Given the description of an element on the screen output the (x, y) to click on. 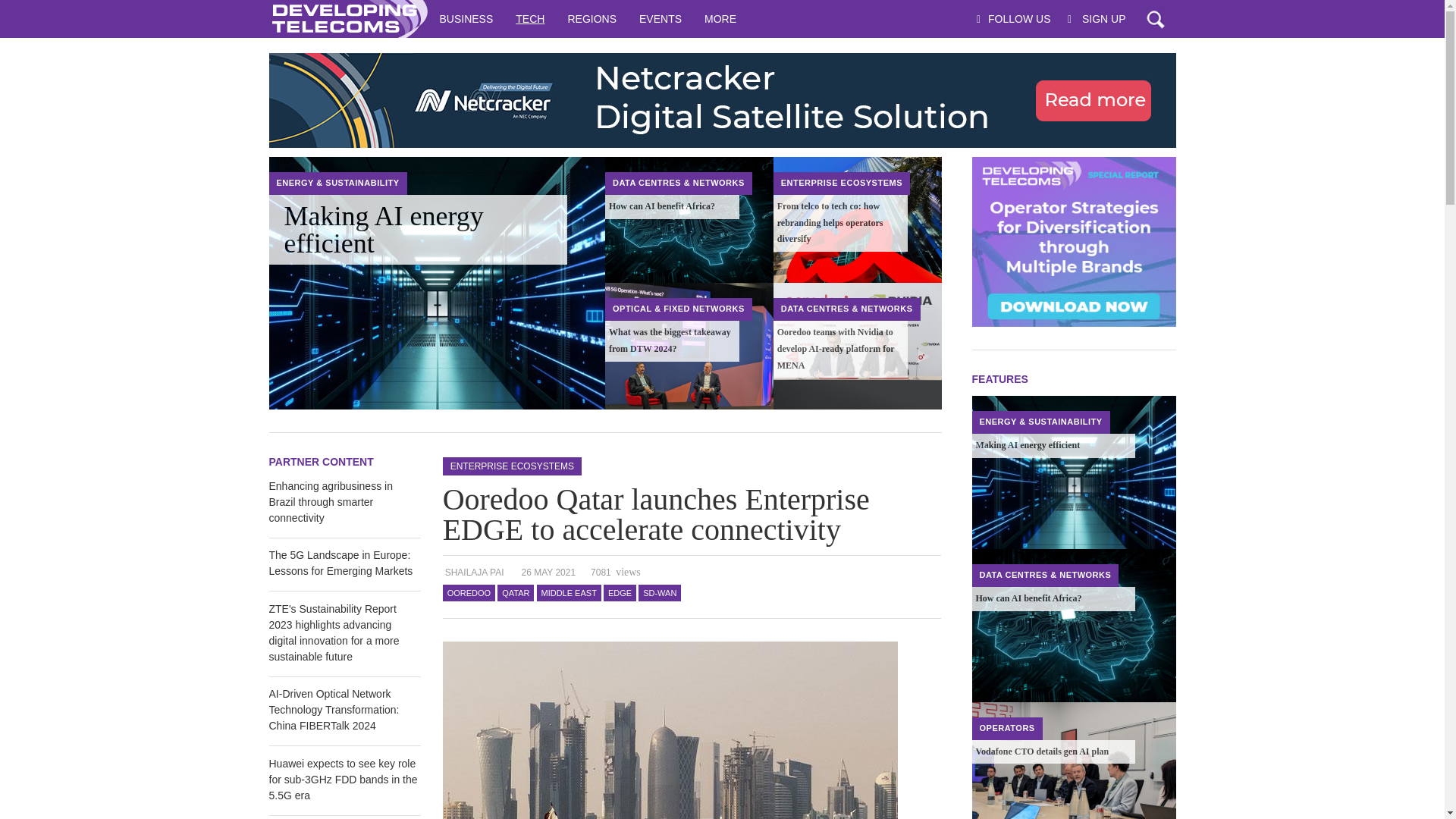
Click to follow link (720, 100)
Developing Telecoms (347, 18)
TECH (529, 18)
Enterprise Ecosystems (841, 182)
BUSINESS (465, 18)
REGIONS (591, 18)
